Given the description of an element on the screen output the (x, y) to click on. 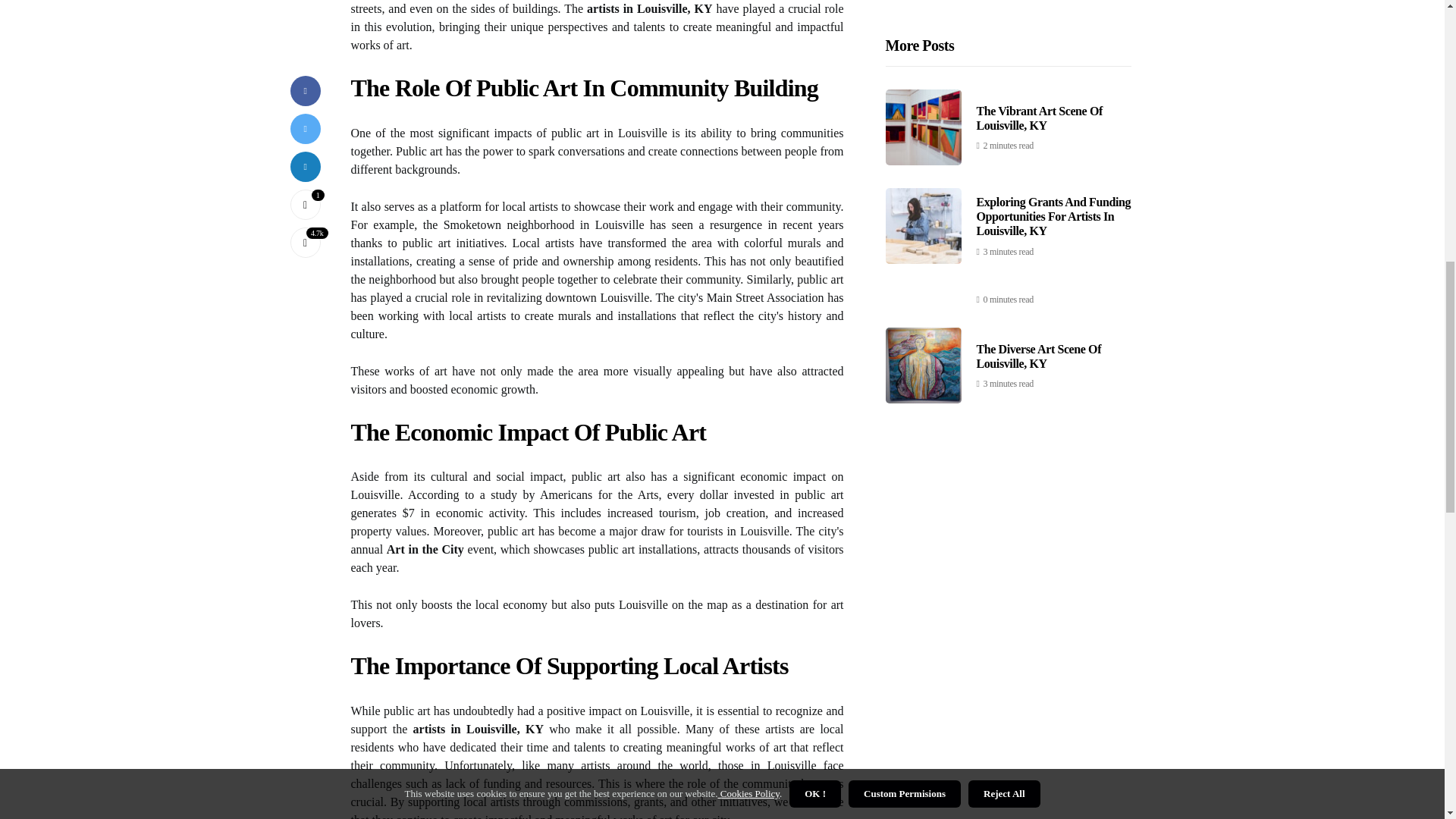
The Diverse Art Scene Of Louisville, KY (1039, 31)
